Given the description of an element on the screen output the (x, y) to click on. 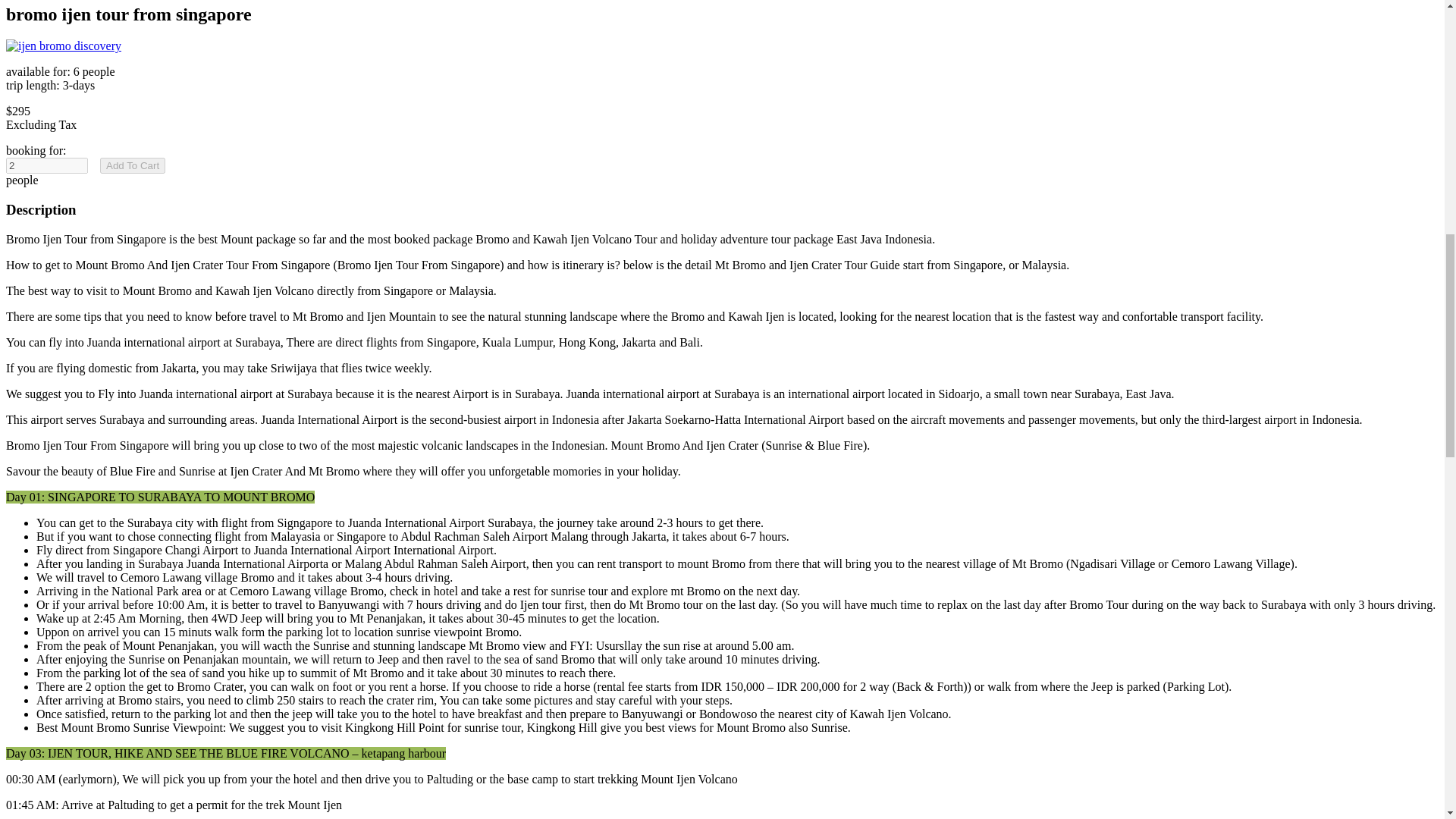
ijen bromo discovery (62, 46)
2 (46, 165)
